Given the description of an element on the screen output the (x, y) to click on. 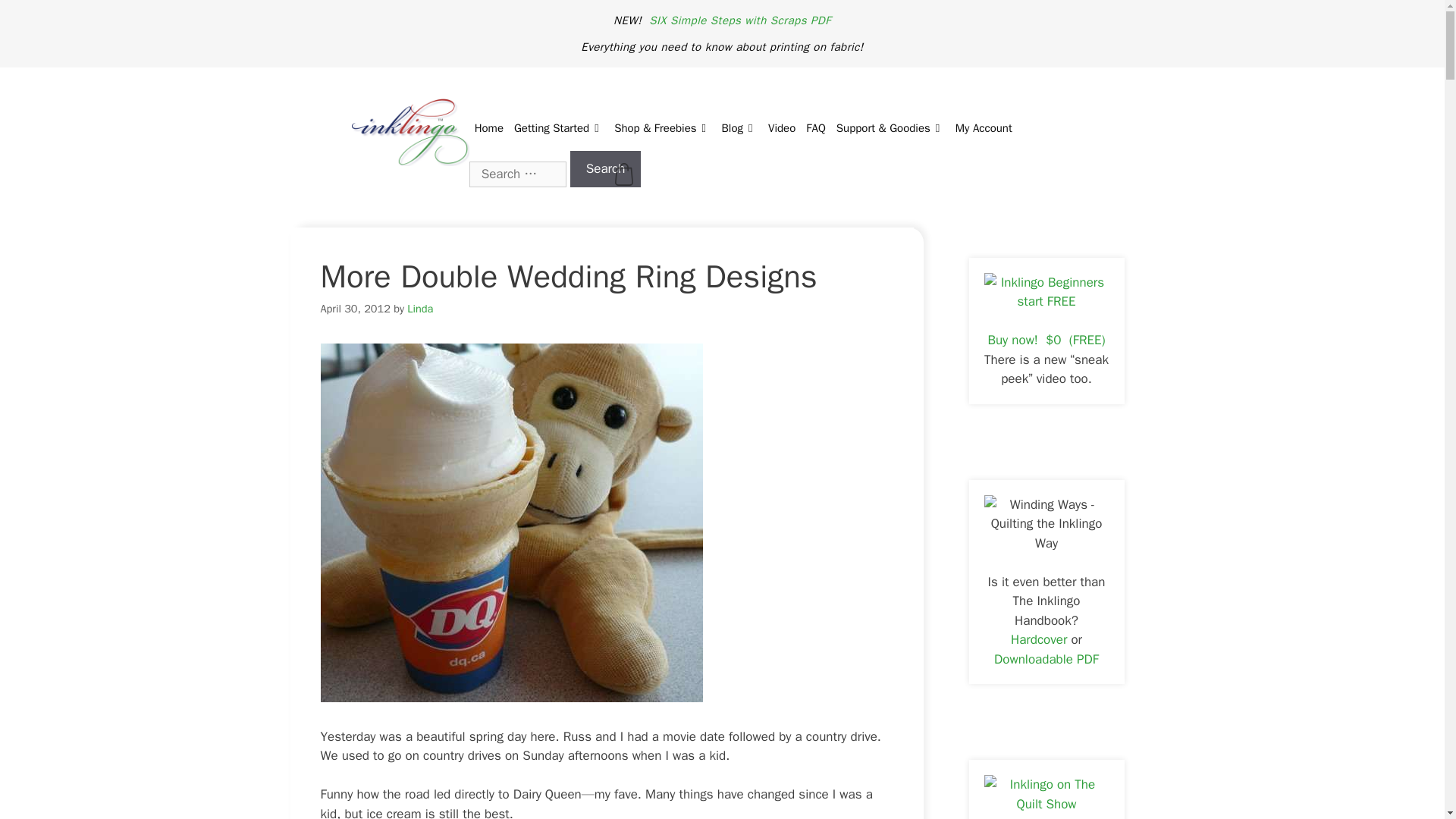
SIX Simple Steps with Scraps PDF (740, 20)
Search (606, 168)
View all posts by Linda (419, 308)
Search for: (517, 173)
Search (606, 168)
Getting Started (558, 127)
